Given the description of an element on the screen output the (x, y) to click on. 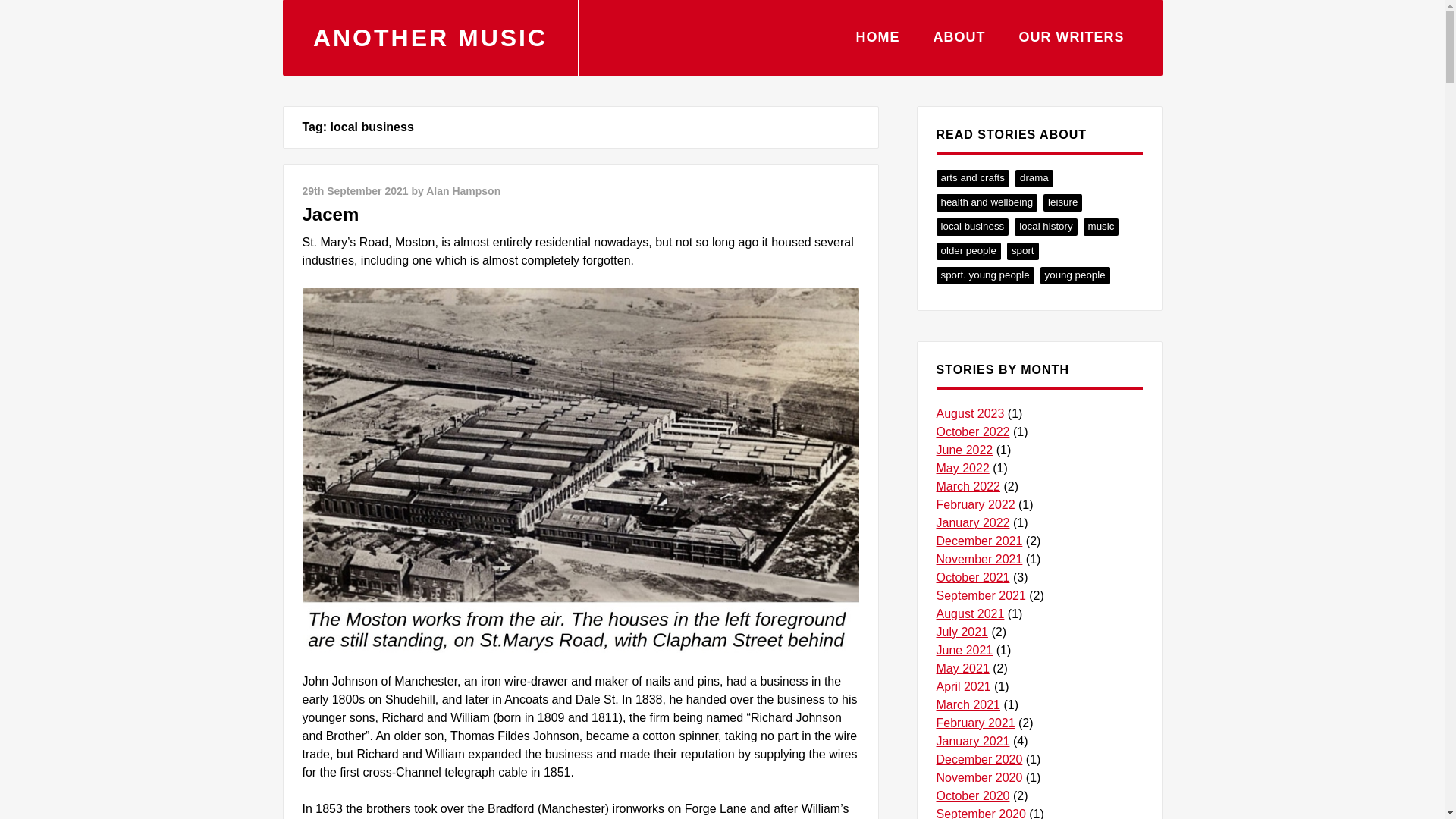
arts and crafts (972, 178)
OUR WRITERS (1071, 23)
29th September 2021 (354, 191)
ANOTHER MUSIC (430, 37)
HOME (877, 23)
ABOUT (959, 23)
Alan Hampson (463, 191)
drama (1033, 178)
Jacem (329, 213)
